Given the description of an element on the screen output the (x, y) to click on. 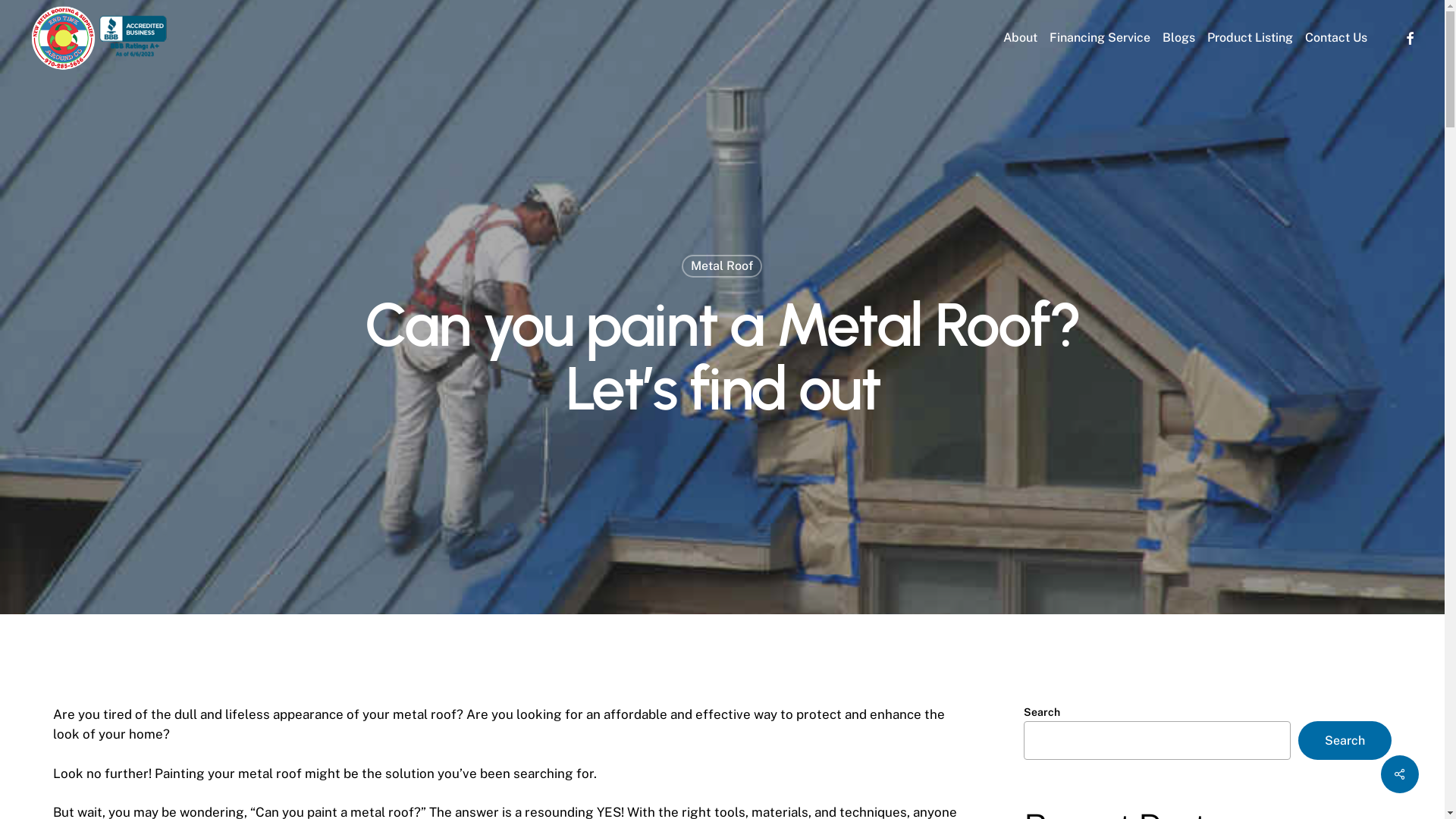
Contact Us Element type: text (1336, 37)
Blogs Element type: text (1178, 37)
Product Listing Element type: text (1249, 37)
Financing Service Element type: text (1099, 37)
facebook Element type: text (1409, 38)
Search Element type: text (1344, 740)
Metal Roof Element type: text (721, 265)
About Element type: text (1020, 37)
